Given the description of an element on the screen output the (x, y) to click on. 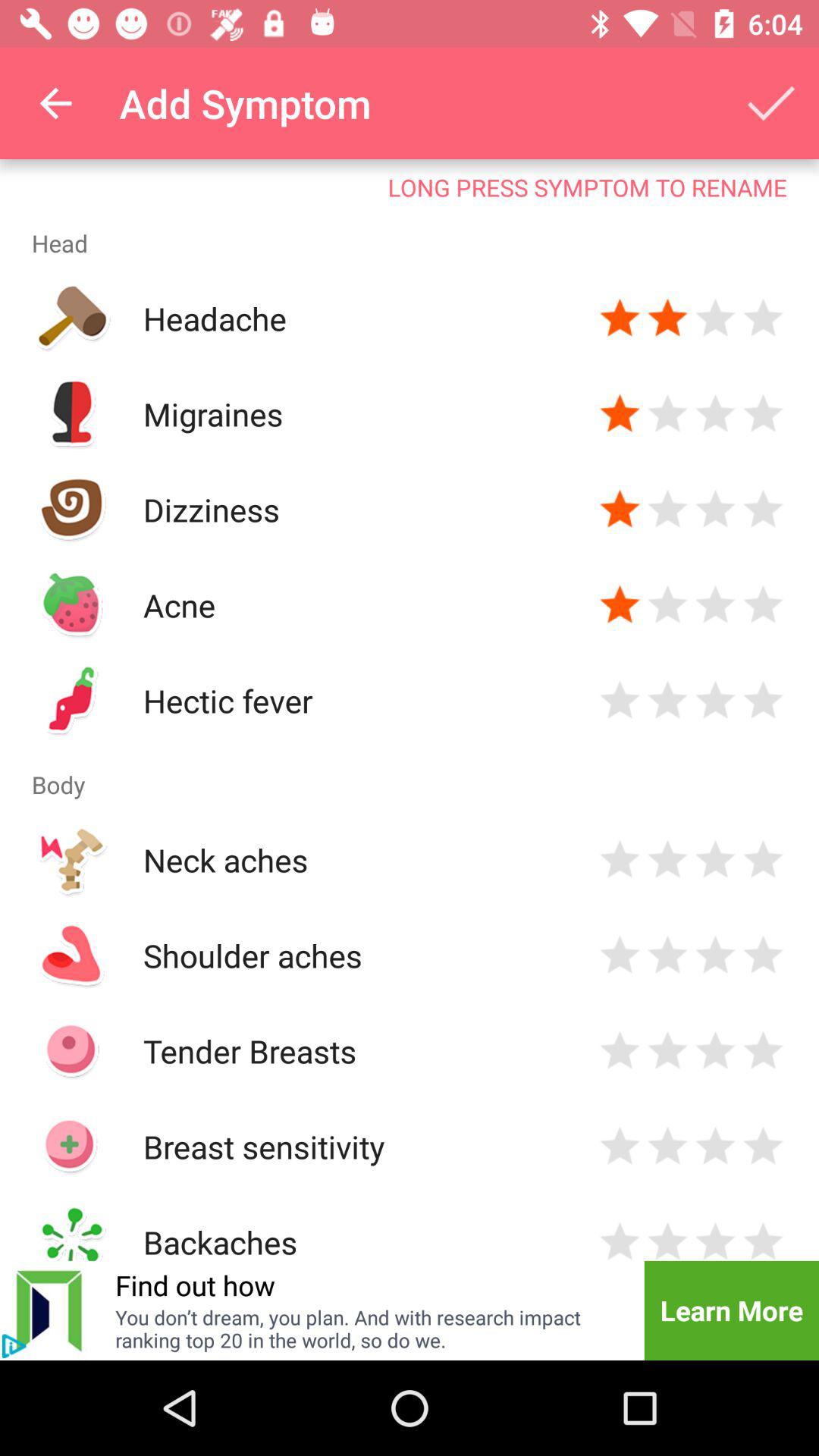
4 star rating (763, 509)
